Given the description of an element on the screen output the (x, y) to click on. 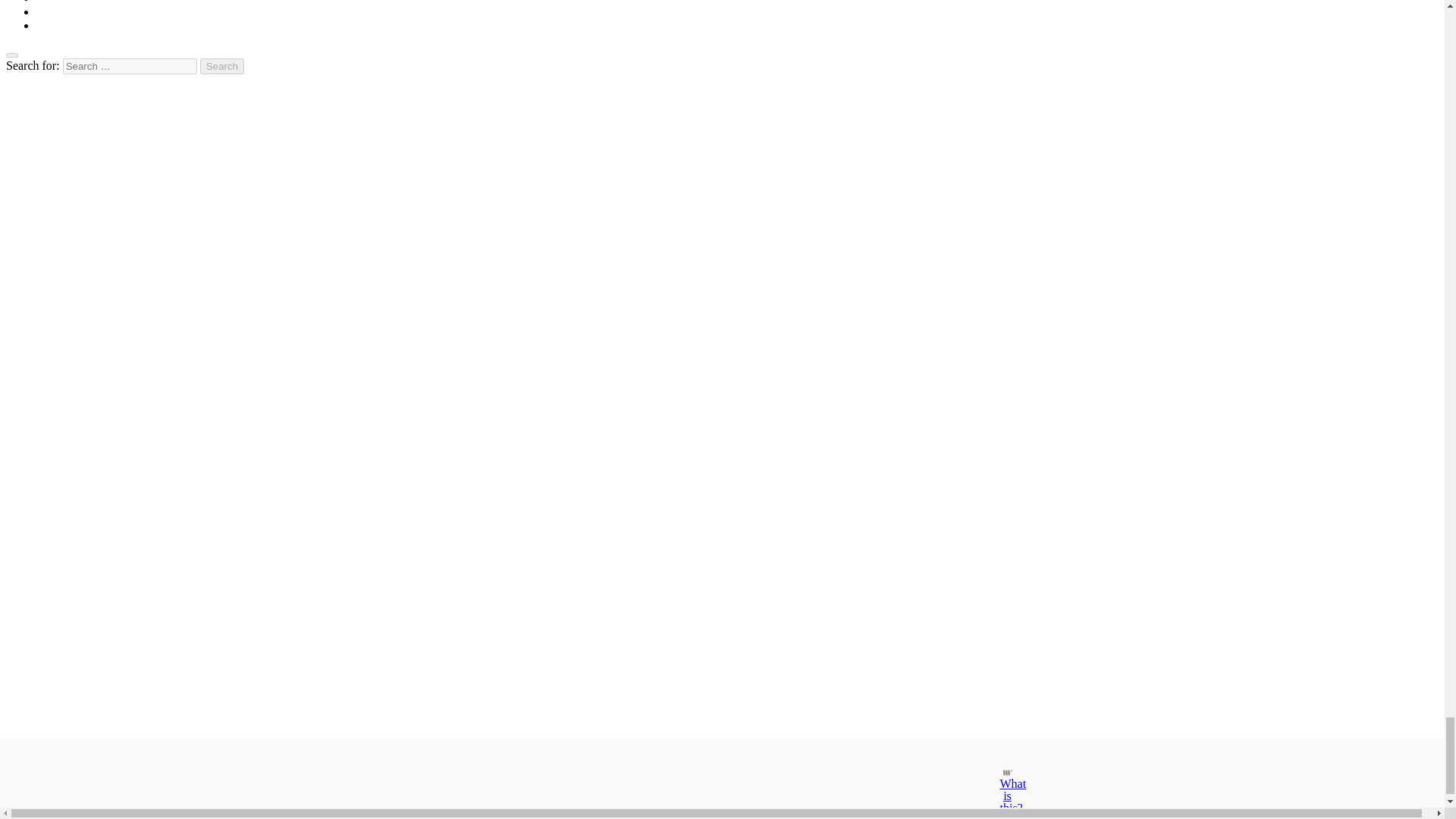
Search (222, 66)
Search (222, 66)
